Given the description of an element on the screen output the (x, y) to click on. 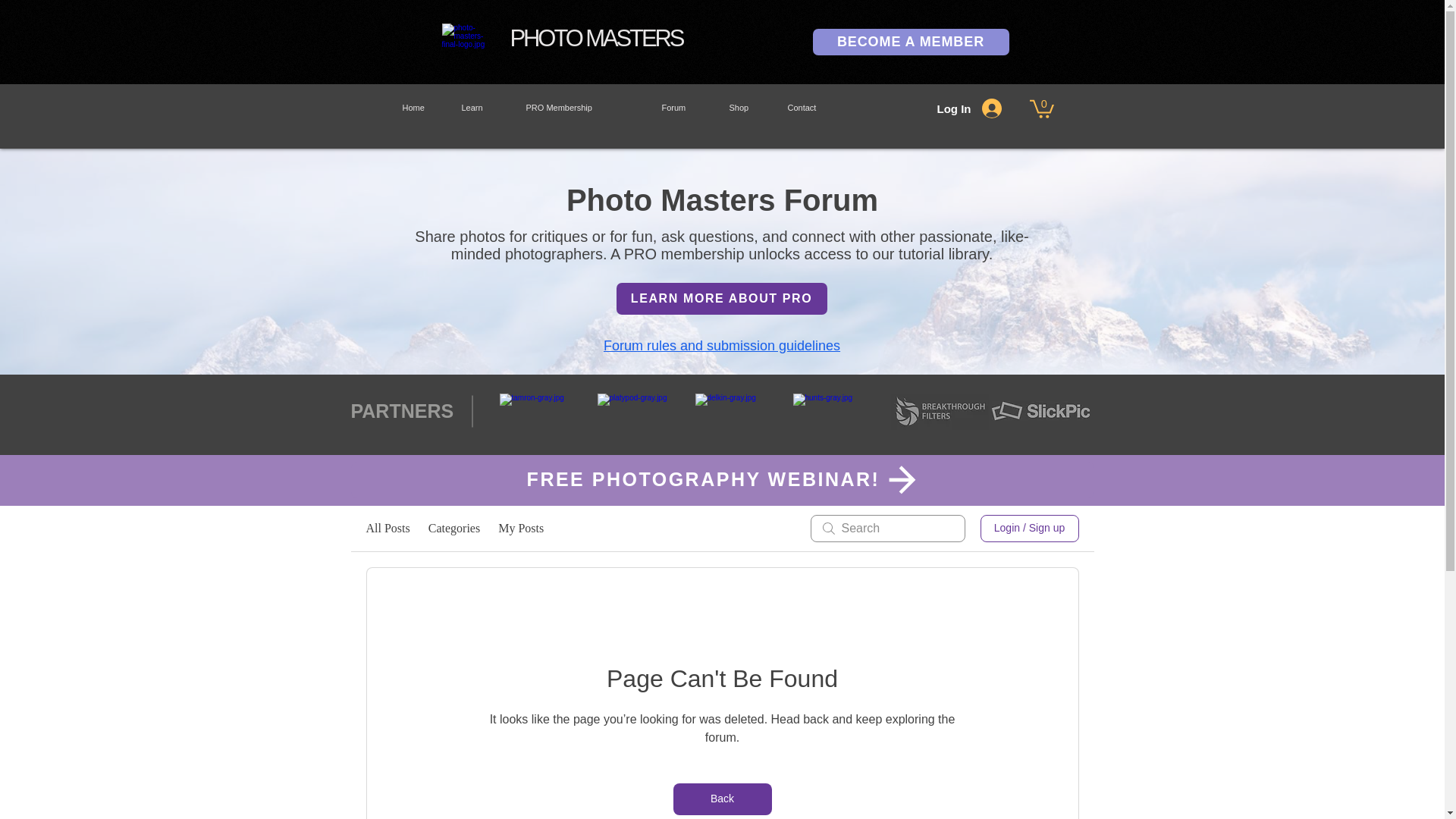
Home (420, 108)
LEARN MORE ABOUT PRO (721, 298)
Forum rules and submission guidelines (722, 345)
FREE PHOTOGRAPHY WEBINAR! (721, 479)
Contact (818, 108)
All Posts (387, 528)
0 (1041, 107)
0 (1041, 107)
Shop (746, 108)
PHOTO MASTERS (595, 38)
Forum (683, 108)
slickpic-logo.jpg (1040, 410)
Categories (454, 528)
hunts.png (842, 411)
Back (721, 798)
